Given the description of an element on the screen output the (x, y) to click on. 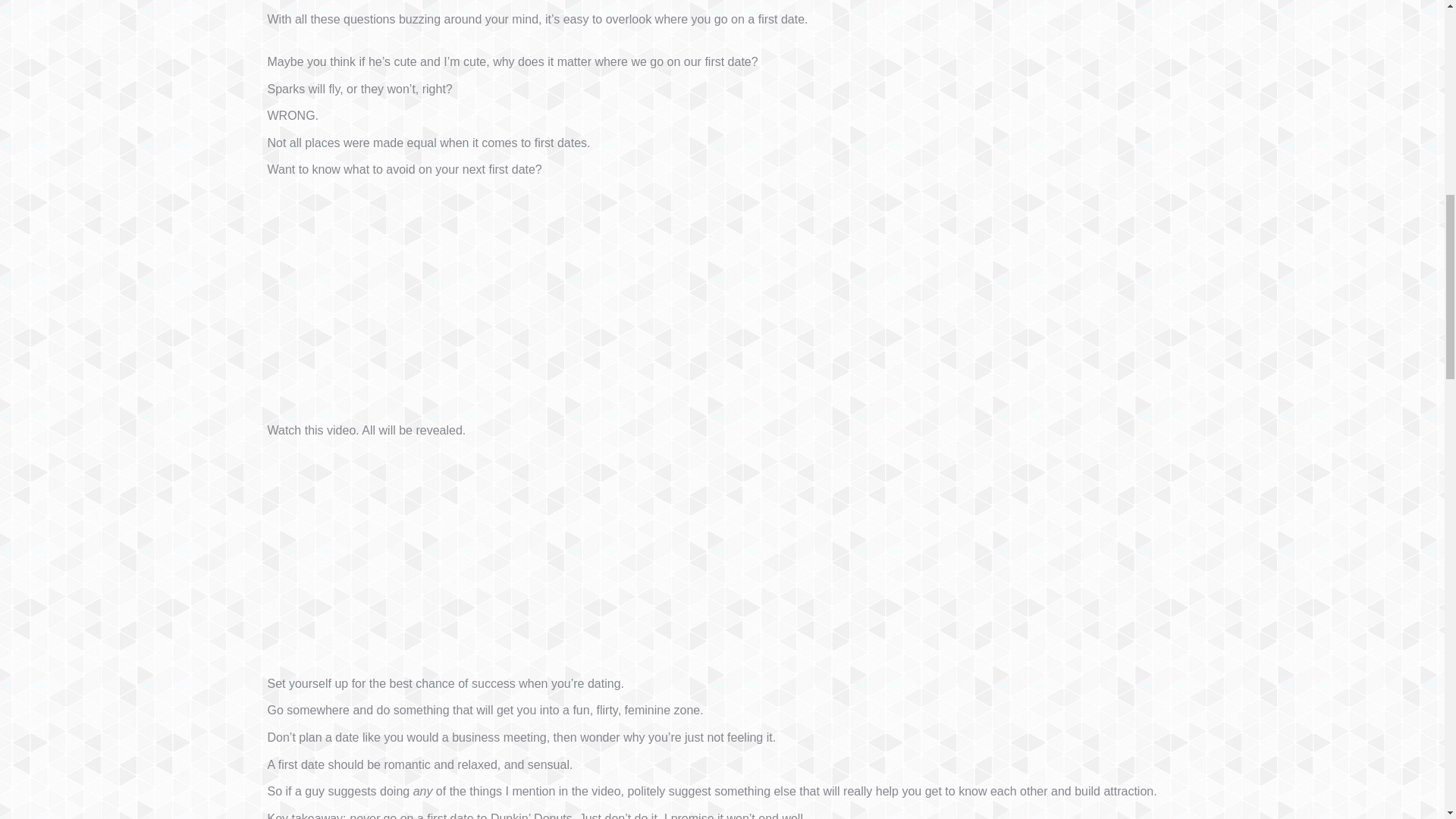
3 Places You Should NEVER Go on a First Date (456, 553)
